Given the description of an element on the screen output the (x, y) to click on. 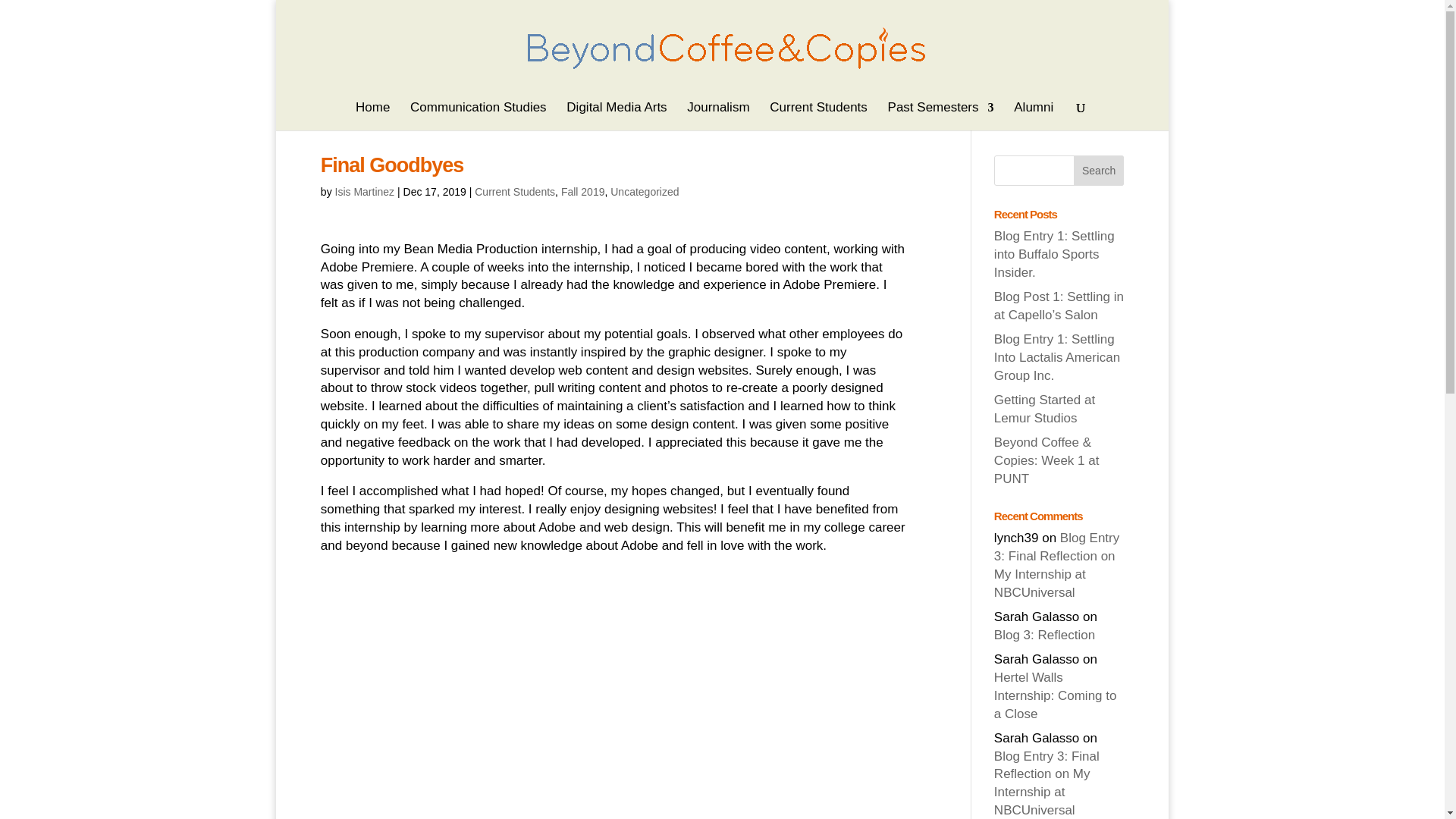
Getting Started at Lemur Studios (1044, 409)
Alumni (1032, 116)
Fall 2019 (582, 191)
Search (1099, 170)
Home (372, 116)
Communication Studies (478, 116)
Posts by Isis Martinez (364, 191)
Journalism (718, 116)
Current Students (818, 116)
Isis Martinez (364, 191)
Search (1099, 170)
Blog Entry 1: Settling Into Lactalis American Group Inc. (1056, 357)
Past Semesters (941, 116)
Hertel Walls Internship: Coming to a Close (1055, 695)
